Given the description of an element on the screen output the (x, y) to click on. 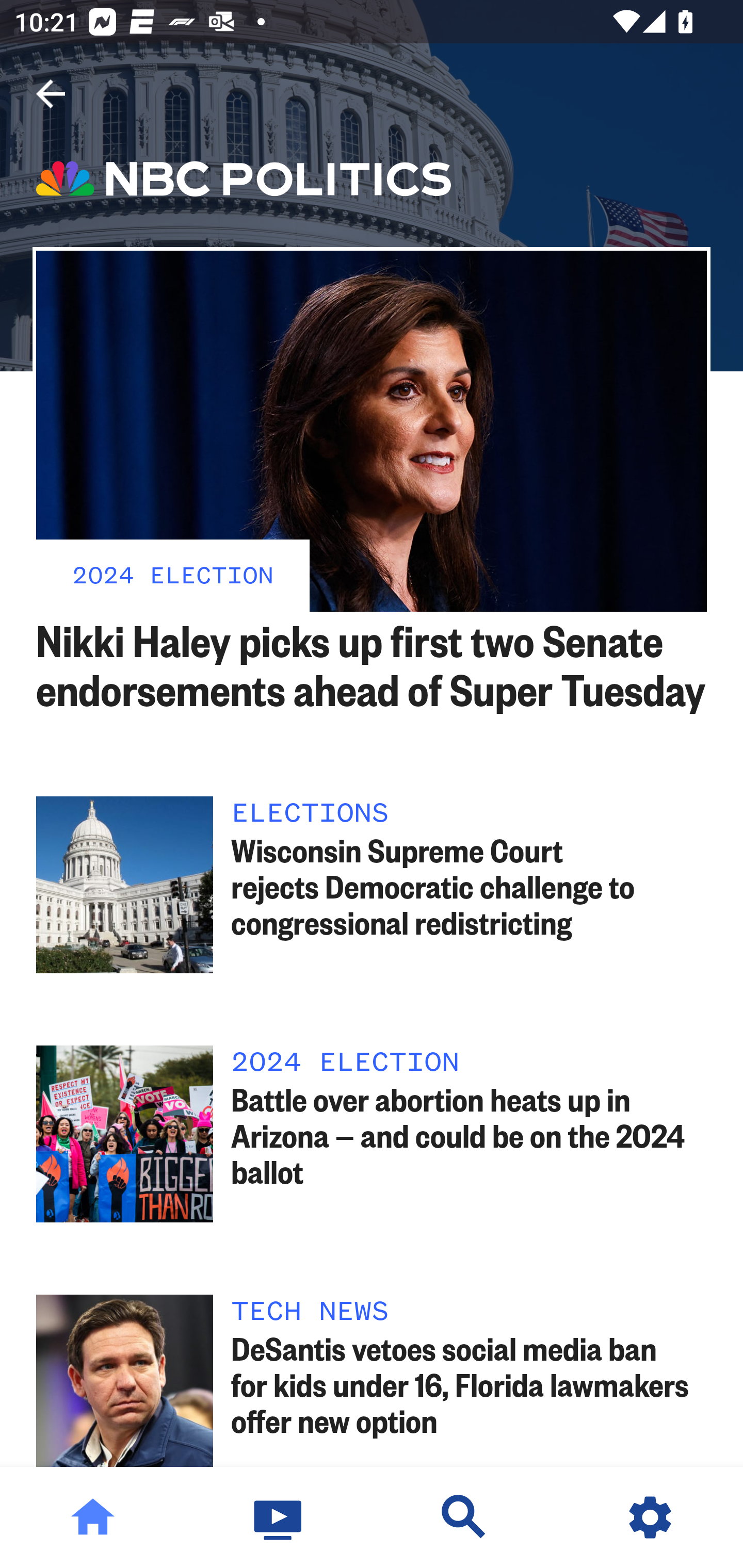
Navigate up (50, 93)
Watch (278, 1517)
Discover (464, 1517)
Settings (650, 1517)
